Given the description of an element on the screen output the (x, y) to click on. 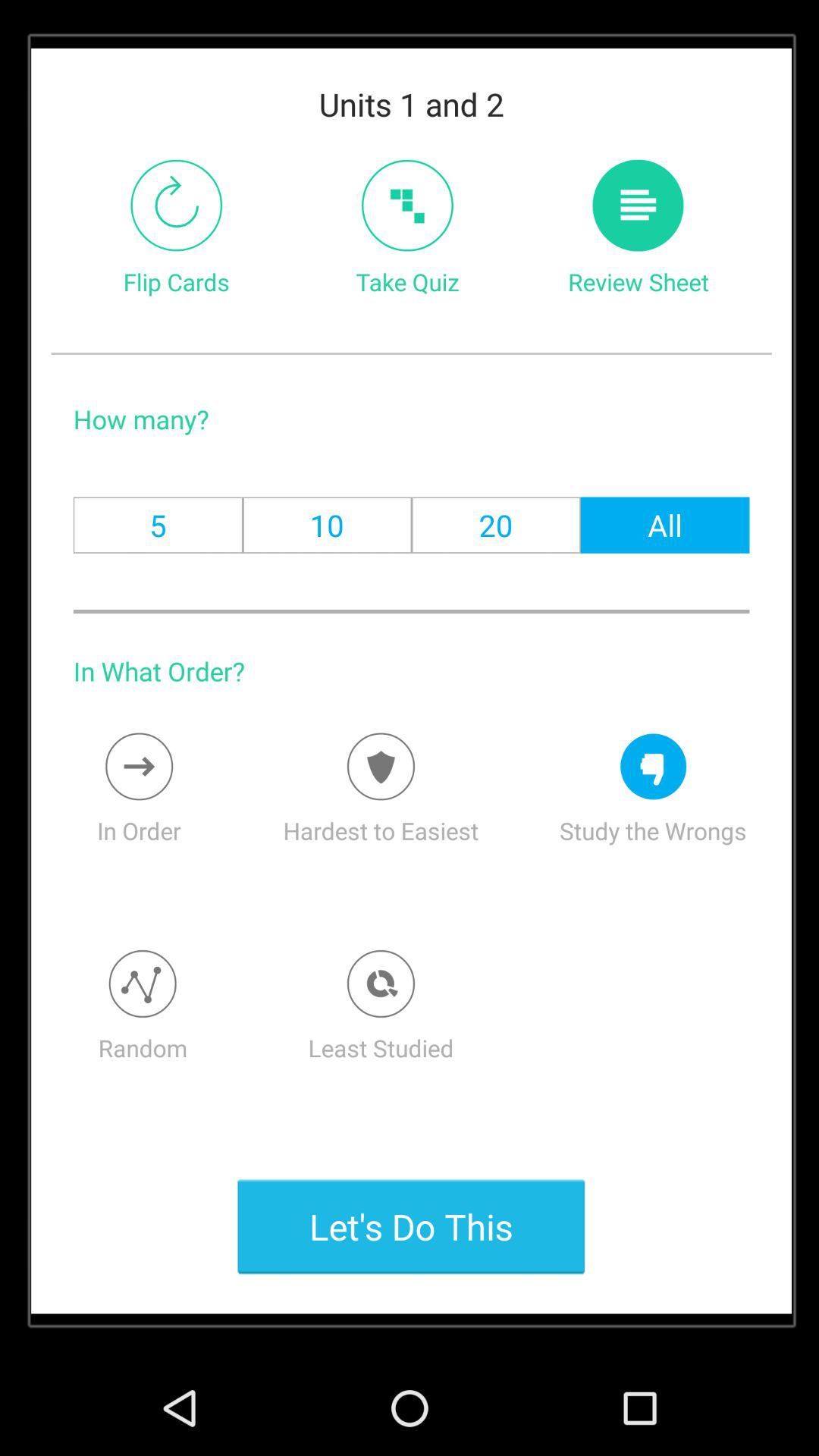
choose the item to the right of the flip cards item (407, 205)
